Given the description of an element on the screen output the (x, y) to click on. 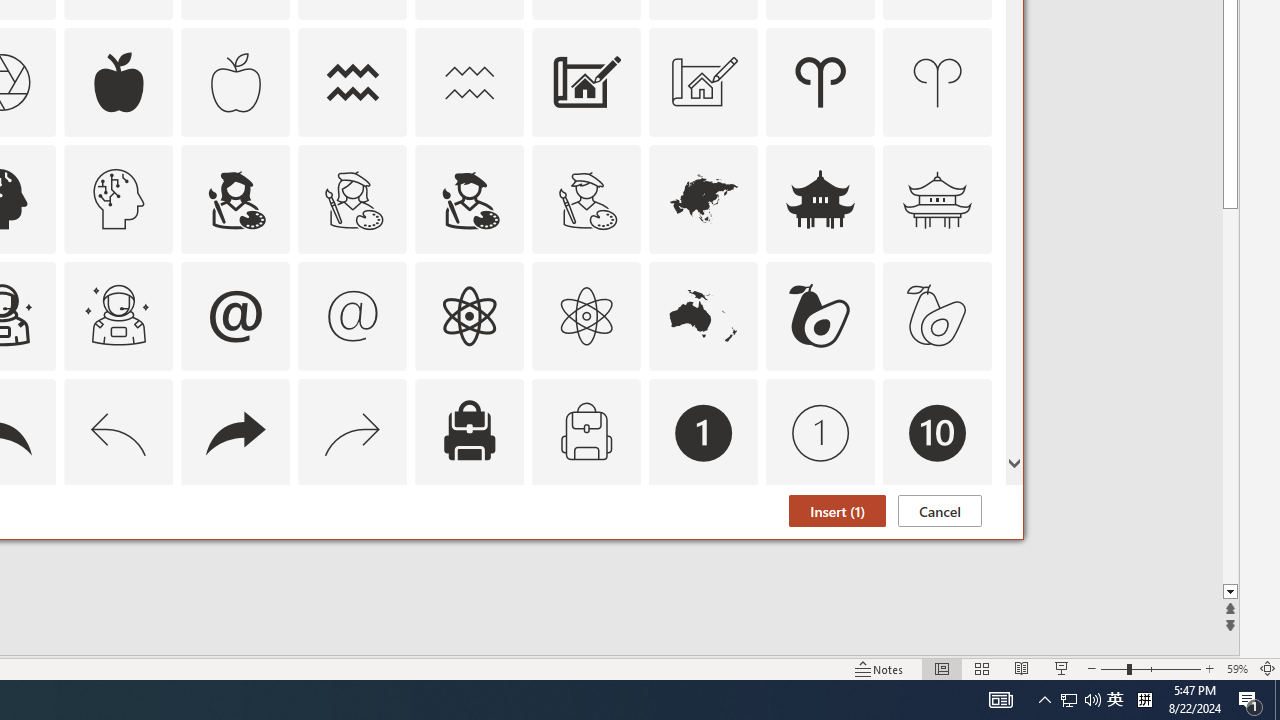
AutomationID: Icons_Backpack_M (586, 432)
AutomationID: Icons_Back_RTL (235, 432)
AutomationID: Icons_AstronautMale_M (118, 316)
AutomationID: Icons_Aquarius (353, 82)
AutomationID: Icons_Backpack (469, 432)
AutomationID: Icons_Badge8_M (703, 550)
AutomationID: Icons_Architecture_M (703, 82)
AutomationID: Icons_Badge7_M (469, 550)
AutomationID: Icons_Aries_M (938, 82)
AutomationID: Icons_ArtistMale (469, 198)
AutomationID: Icons_Atom (469, 316)
